Given the description of an element on the screen output the (x, y) to click on. 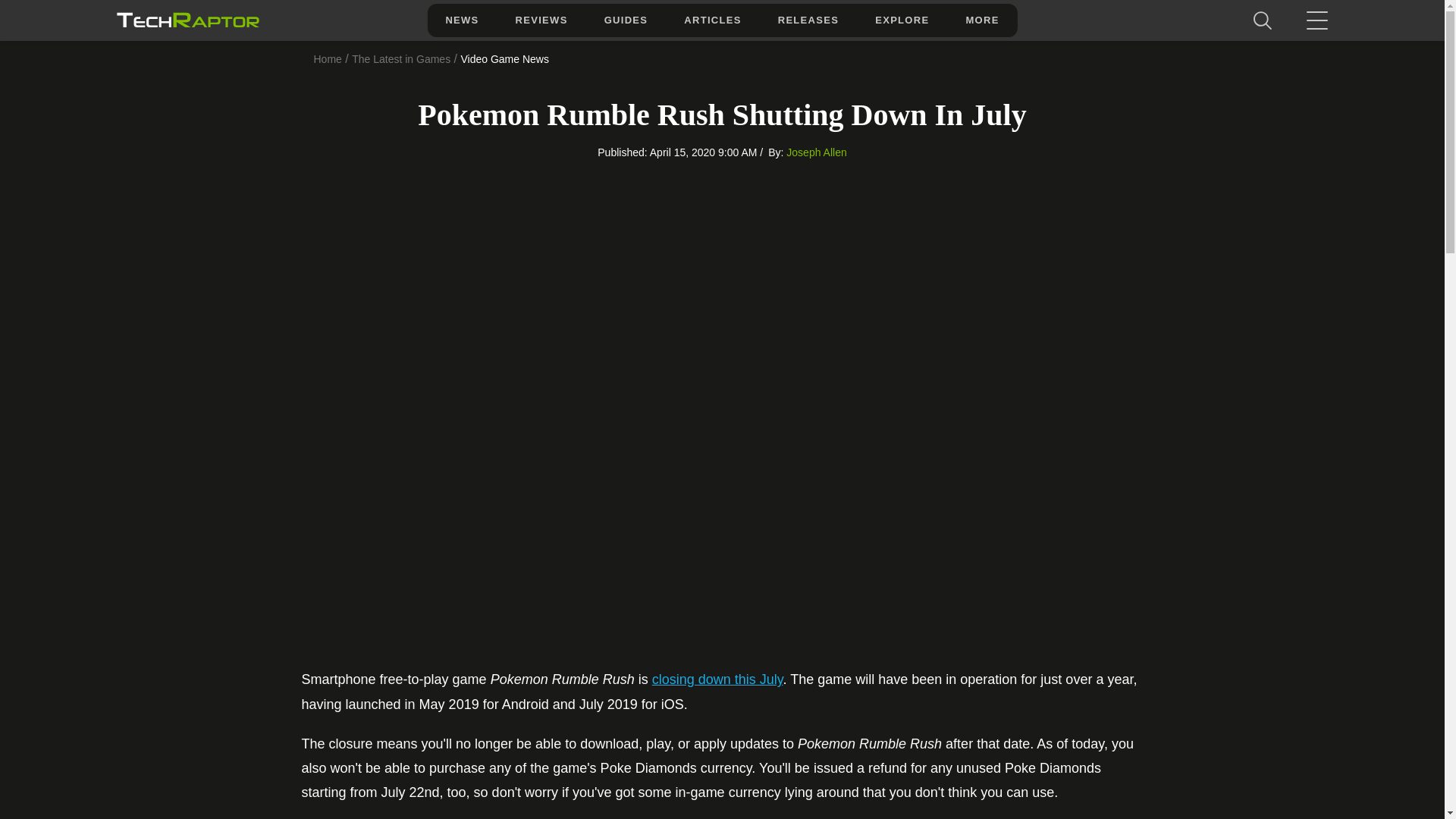
TechRaptor Home (187, 20)
ARTICLES (711, 20)
REVIEWS (541, 20)
GUIDES (626, 20)
NEWS (461, 20)
RELEASES (807, 20)
